Given the description of an element on the screen output the (x, y) to click on. 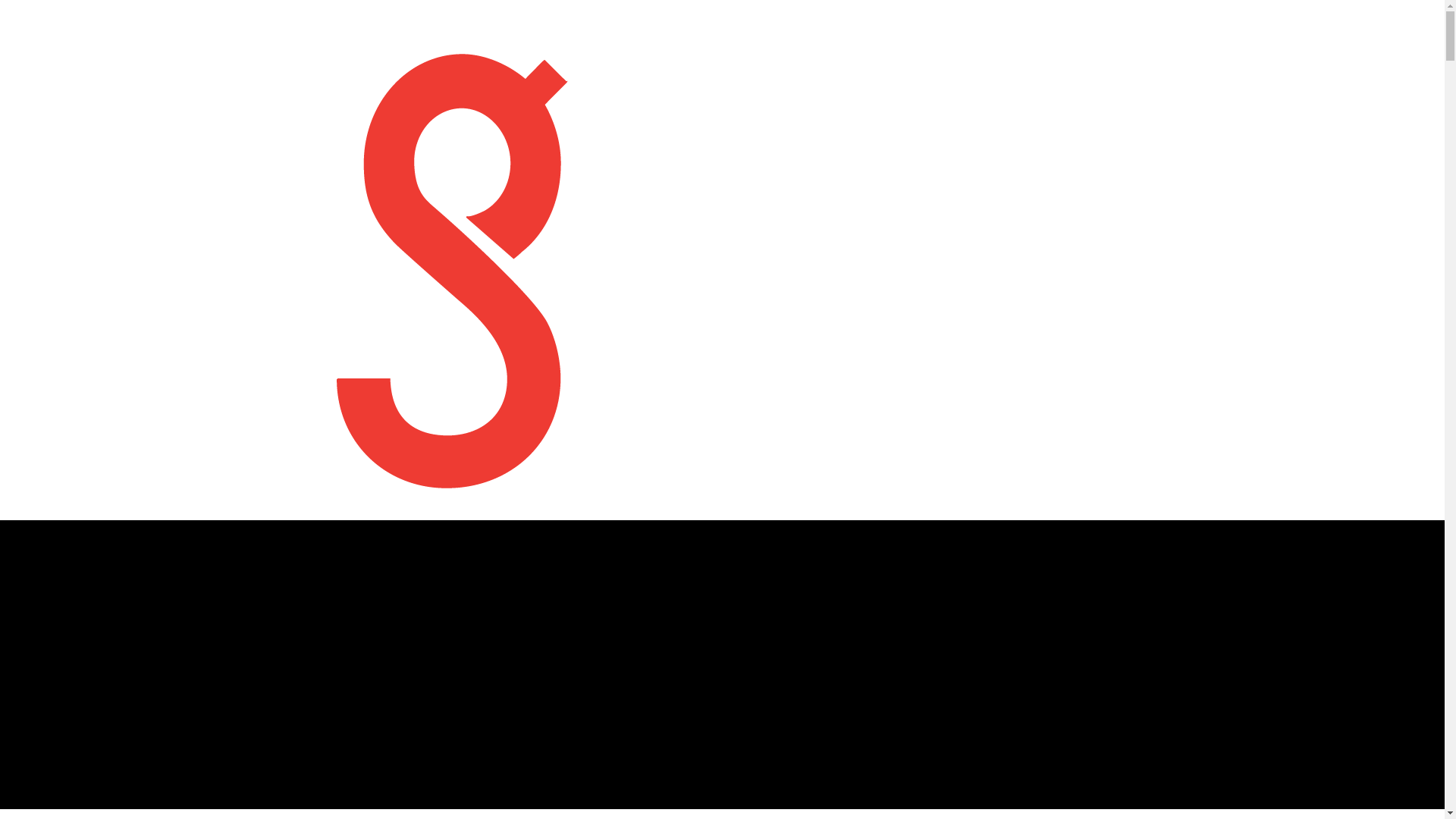
2022-Logo Leger-White&red g Element type: hover (453, 260)
